Given the description of an element on the screen output the (x, y) to click on. 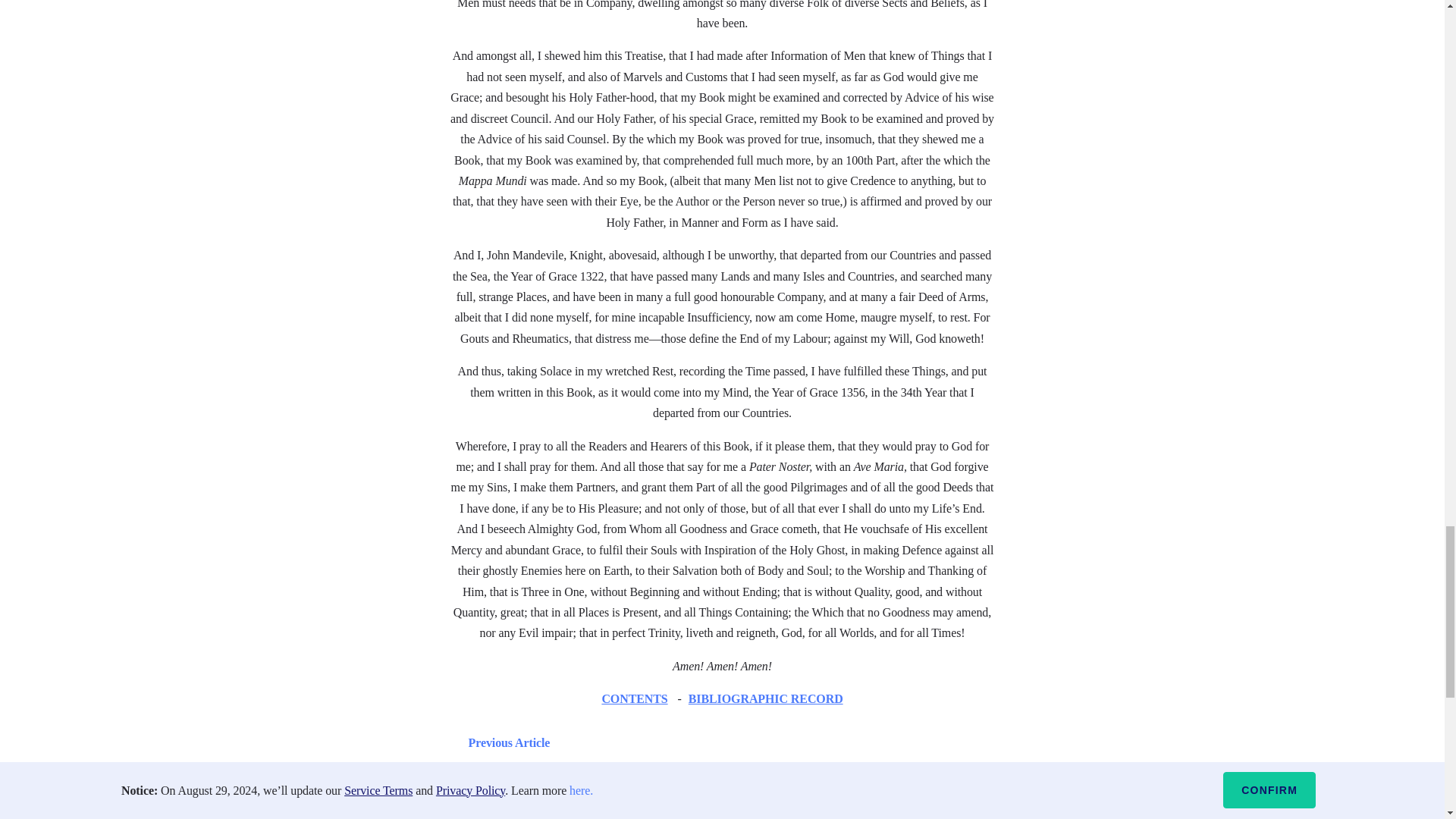
CONTENTS (633, 698)
Previous Article (505, 742)
BIBLIOGRAPHIC RECORD (765, 698)
